Given the description of an element on the screen output the (x, y) to click on. 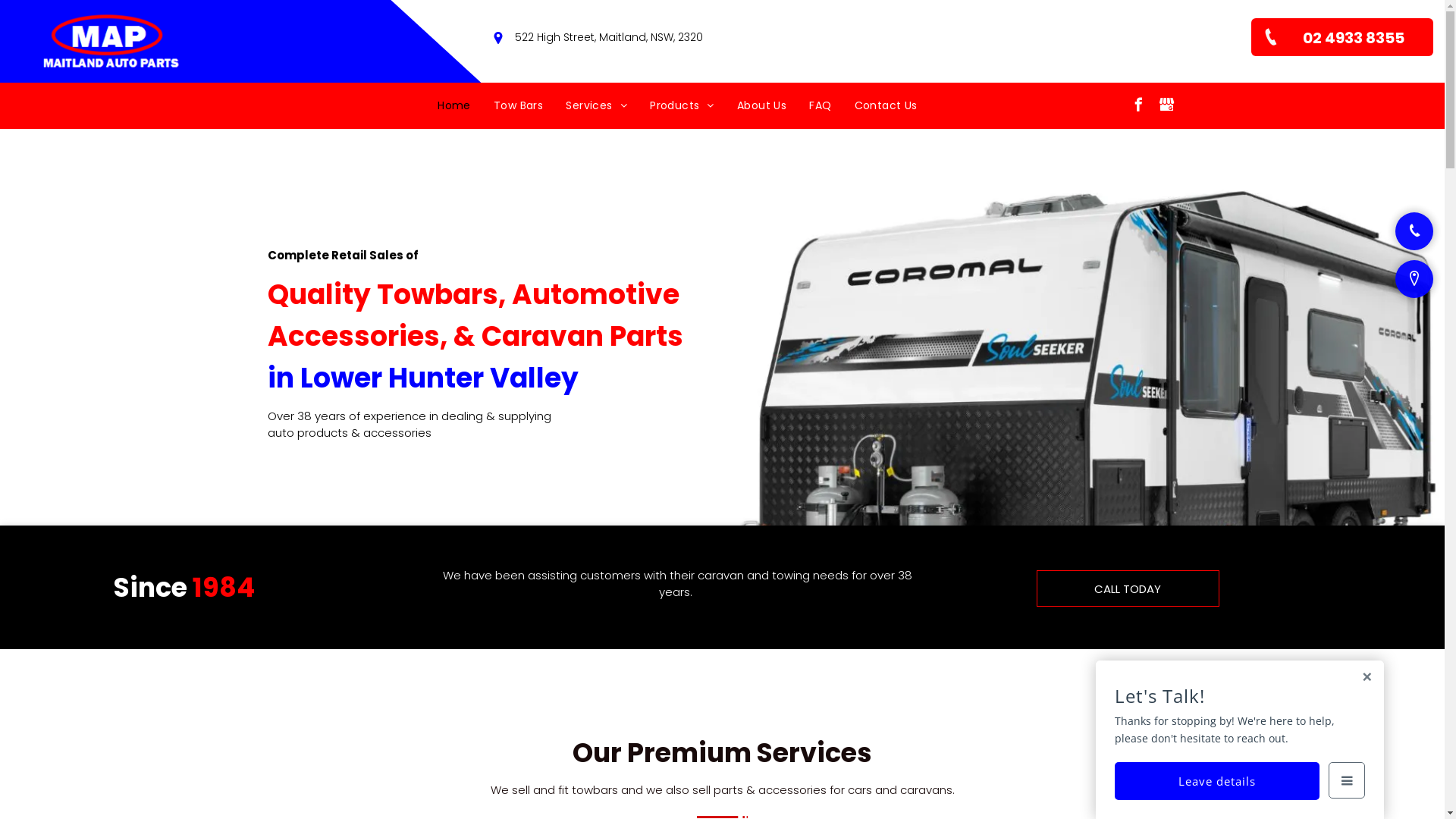
Maitland Auto Parts Element type: hover (111, 40)
CALL TODAY Element type: text (1127, 588)
Contact Us Element type: text (885, 105)
Services Element type: text (596, 105)
Leave details Element type: text (1216, 781)
Home Element type: text (454, 105)
522 High Street, Maitland, NSW, 2320 Element type: text (608, 36)
FAQ Element type: text (819, 105)
02 4933 8355 Element type: text (1342, 37)
Products Element type: text (681, 105)
Tow Bars Element type: text (518, 105)
About Us Element type: text (761, 105)
